Given the description of an element on the screen output the (x, y) to click on. 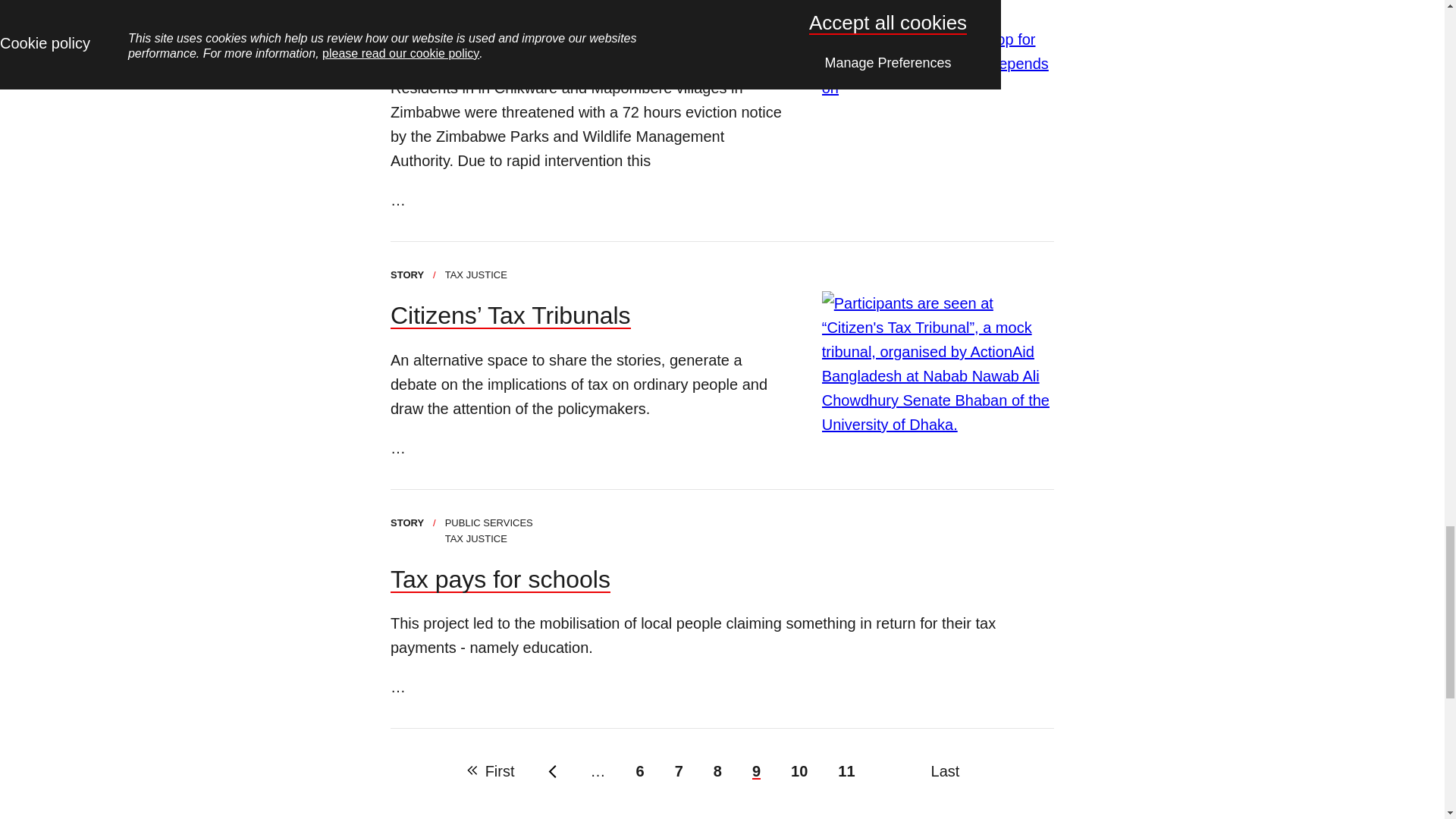
Go to first page (500, 578)
